Given the description of an element on the screen output the (x, y) to click on. 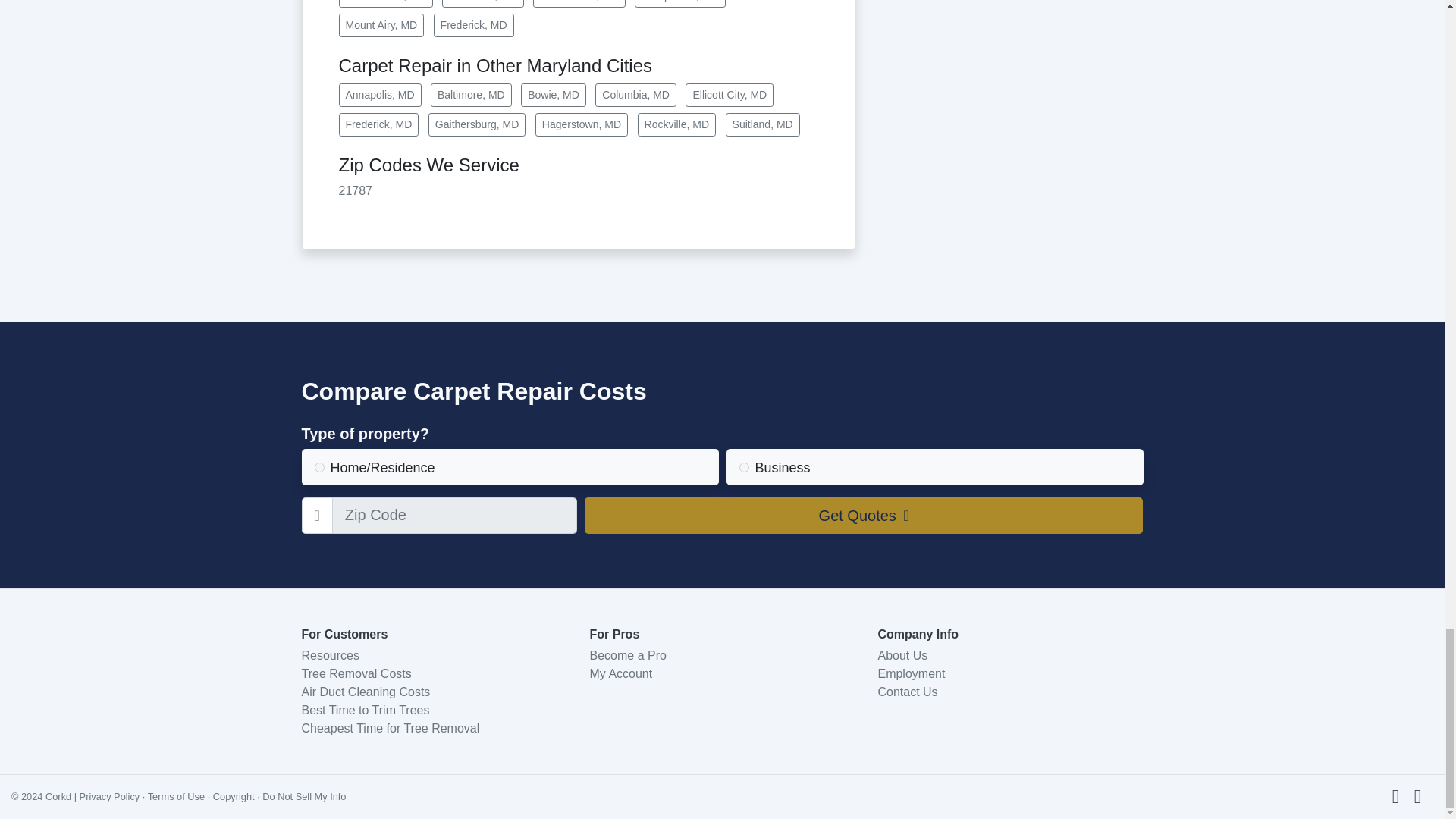
Hagerstown, MD (581, 124)
Hampstead, MD (679, 3)
Suitland, MD (762, 124)
Columbia, MD (636, 95)
Thurmont, MD (482, 3)
Annapolis, MD (378, 95)
Bowie, MD (553, 95)
Rockville, MD (676, 124)
Walkersville, MD (579, 3)
Mount Airy, MD (380, 24)
Ellicott City, MD (729, 95)
Gaithersburg, MD (476, 124)
Frederick, MD (473, 24)
Baltimore, MD (471, 95)
Frederick, MD (378, 124)
